Given the description of an element on the screen output the (x, y) to click on. 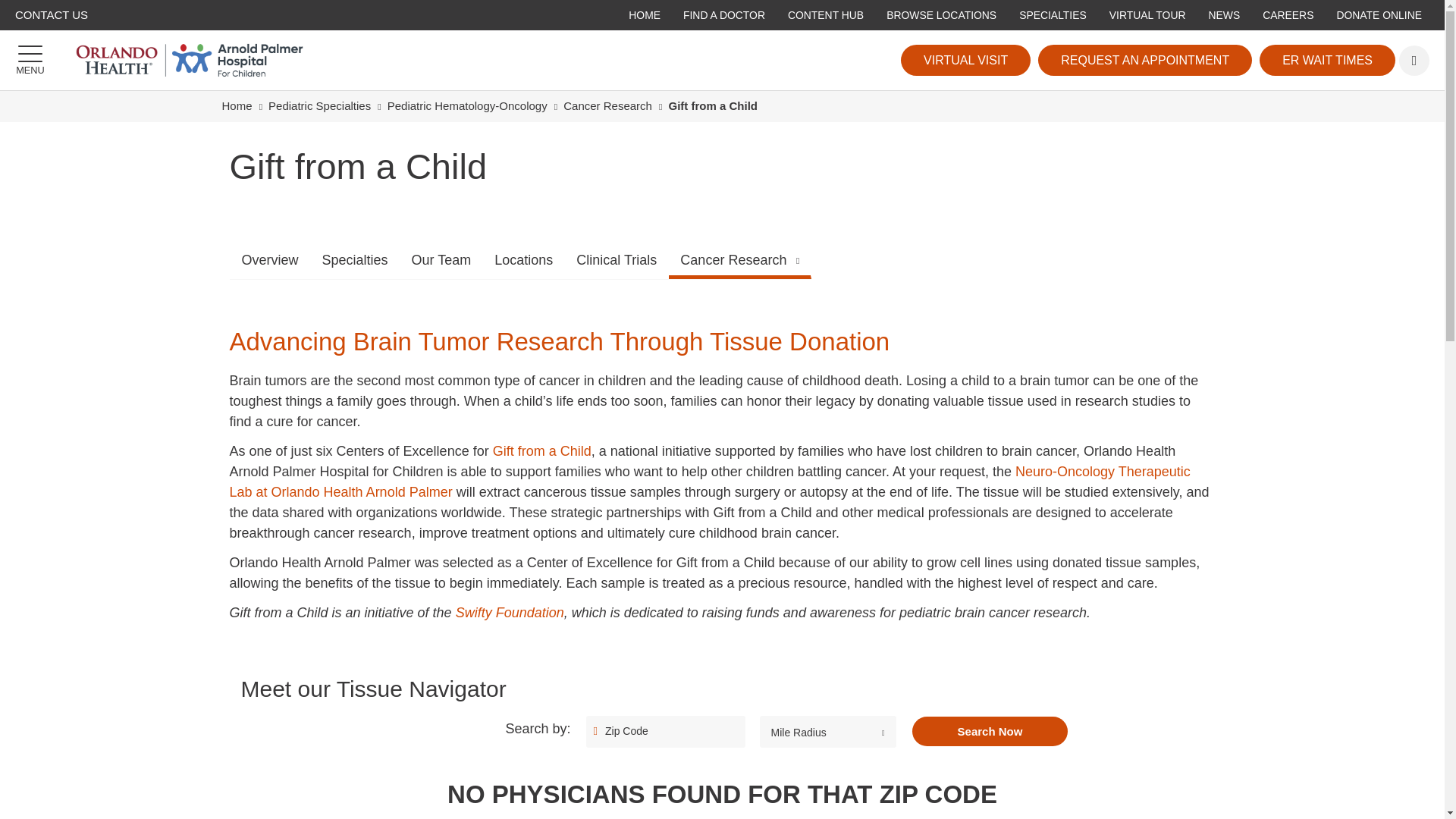
Pediatric Specialties (319, 105)
NEWS (1223, 15)
ER WAIT TIMES (1326, 60)
Home (236, 105)
VIRTUAL TOUR (1147, 15)
CONTENT HUB (825, 15)
FIND A DOCTOR (724, 15)
Search (1414, 60)
HOME (644, 15)
Virtual Visit (965, 60)
